Given the description of an element on the screen output the (x, y) to click on. 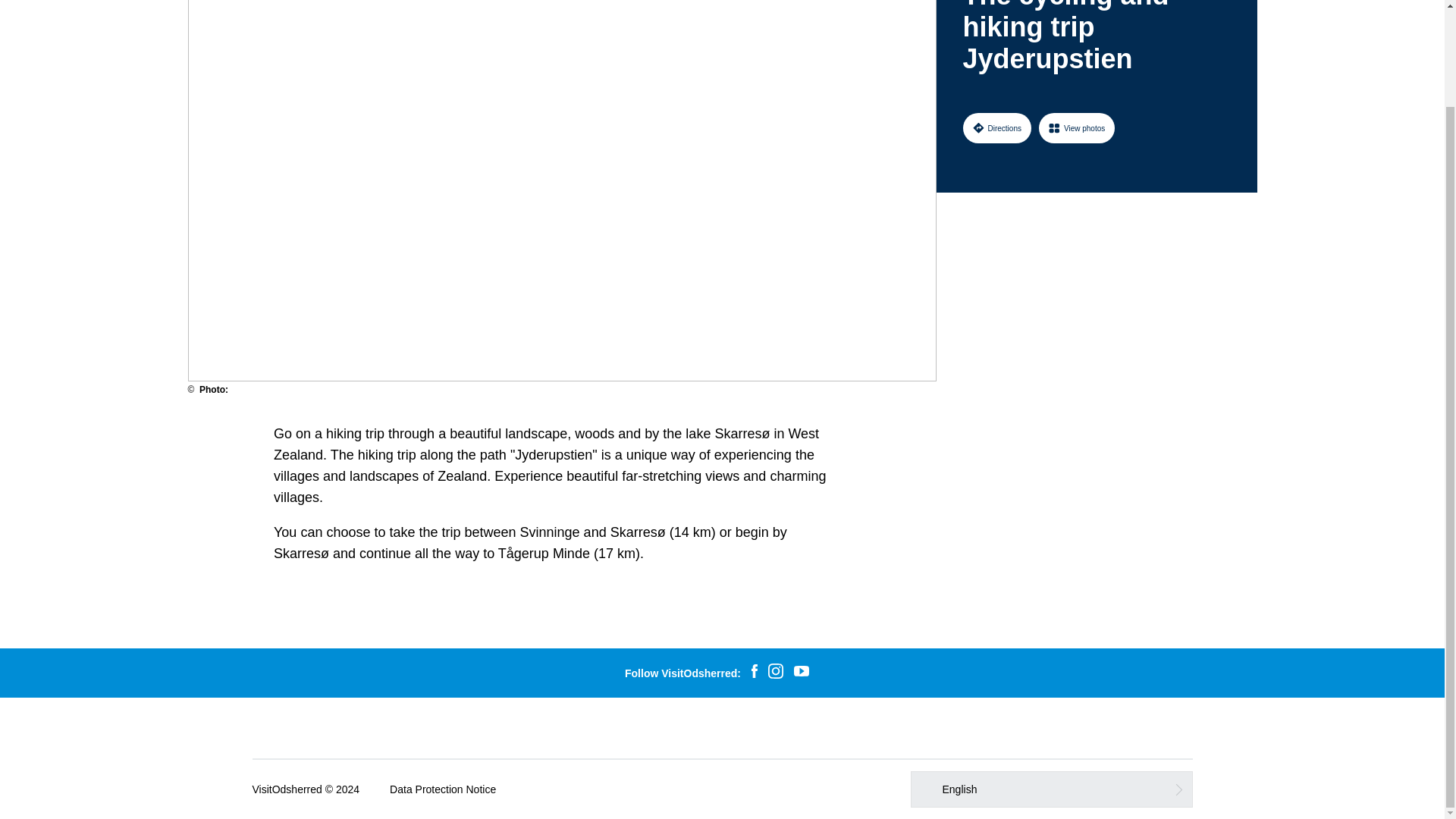
youtube (801, 672)
instagram (775, 673)
View photos (1077, 128)
Directions (996, 128)
Data Protection Notice (443, 789)
facebook (753, 673)
Data Protection Notice (443, 789)
